Given the description of an element on the screen output the (x, y) to click on. 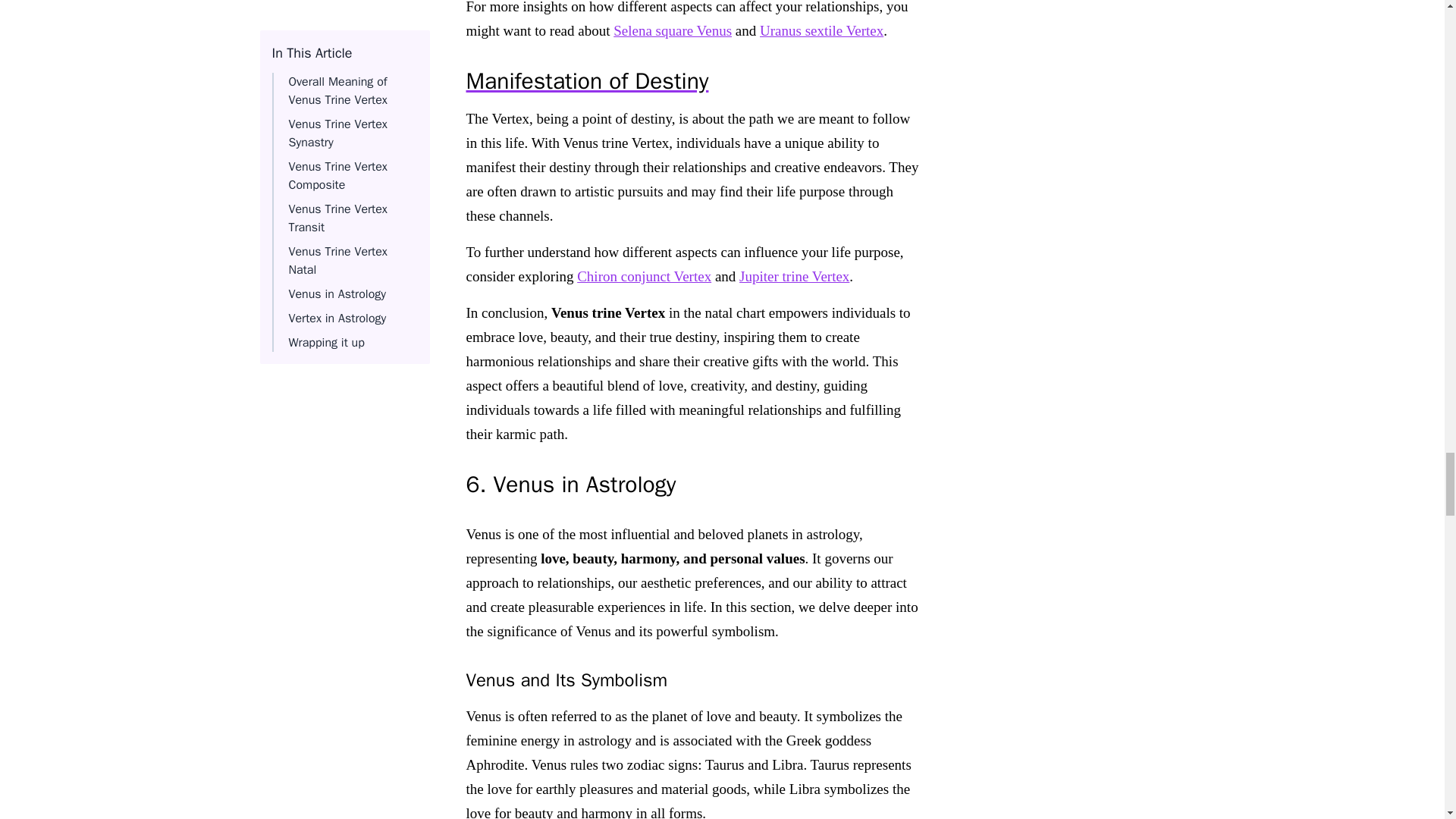
Selena square Venus (672, 30)
Uranus sextile Vertex (821, 30)
Chiron conjunct Vertex (643, 276)
Jupiter trine Vertex (793, 276)
